Given the description of an element on the screen output the (x, y) to click on. 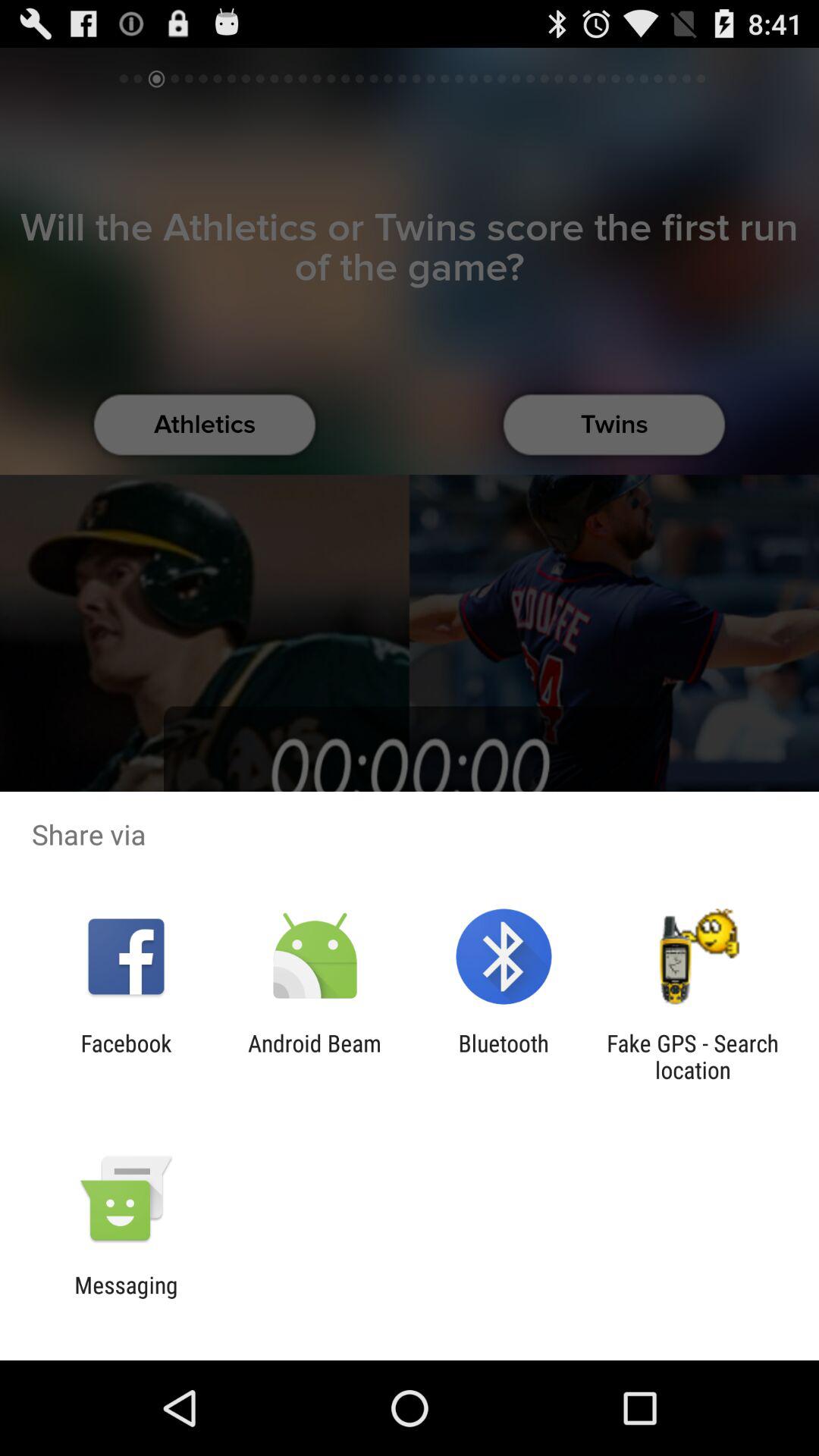
flip until the facebook (125, 1056)
